Given the description of an element on the screen output the (x, y) to click on. 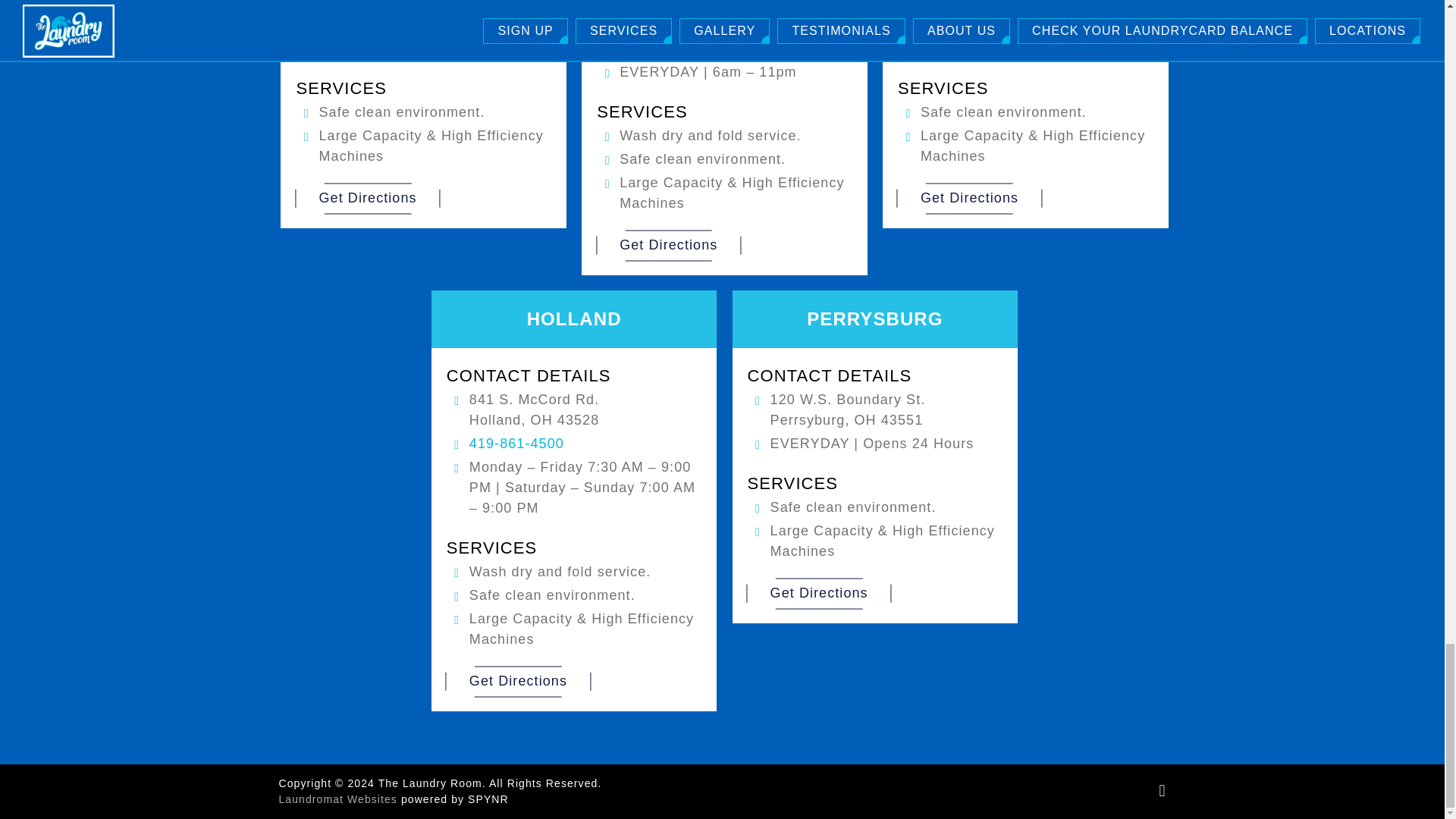
Get Directions (517, 681)
Get Directions (819, 593)
419-861-4500 (516, 443)
Get Directions (367, 197)
Laundromat Websites (338, 799)
419-382-9155 (667, 48)
Get Directions (667, 245)
Get Directions (969, 197)
